Given the description of an element on the screen output the (x, y) to click on. 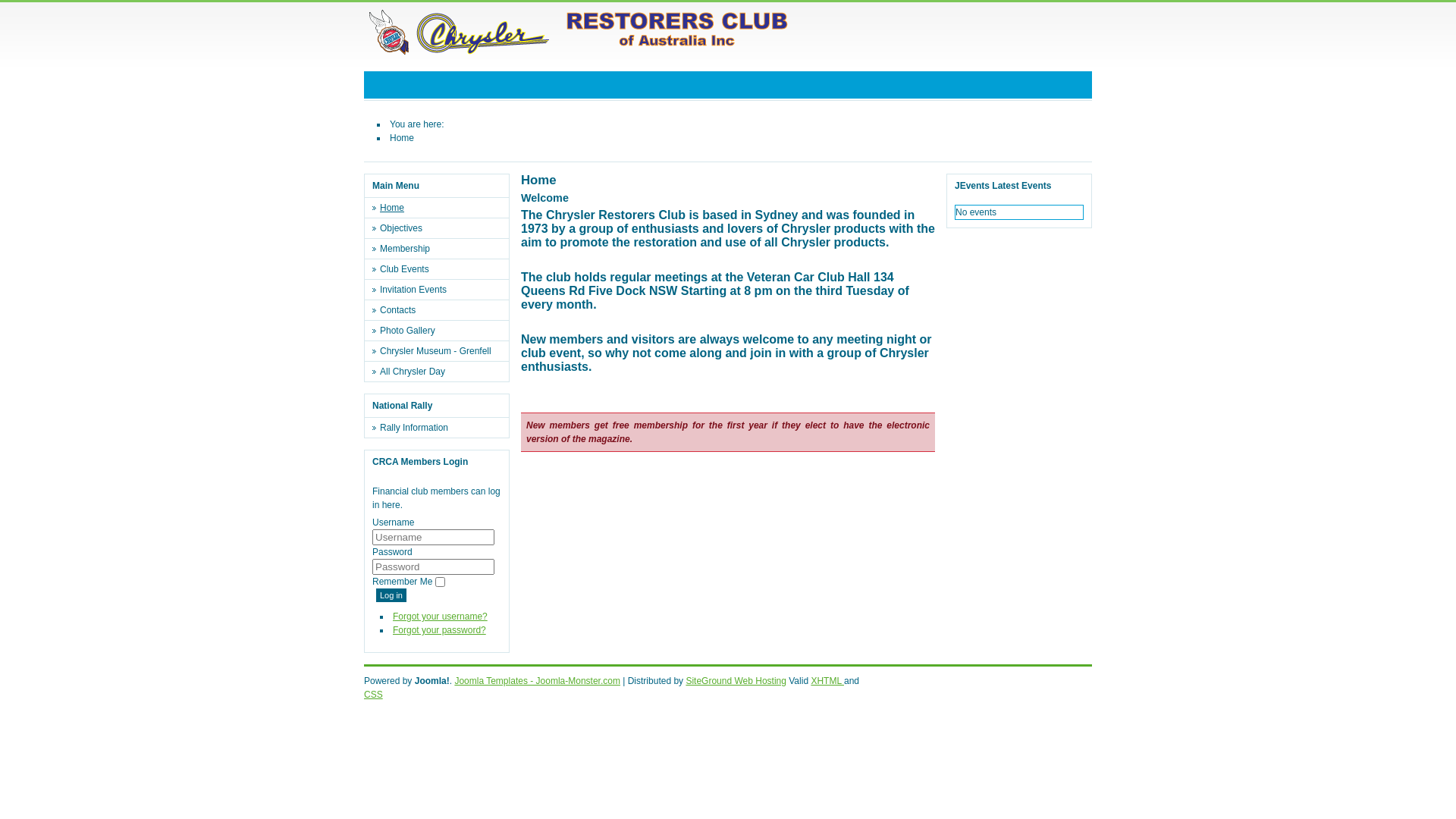
Rally Information Element type: text (440, 427)
Forgot your password? Element type: text (439, 629)
XHTML Element type: text (827, 680)
SiteGround Web Hosting Element type: text (735, 680)
All Chrysler Day Element type: text (440, 371)
Forgot your username? Element type: text (439, 616)
Membership Element type: text (440, 248)
Invitation Events Element type: text (440, 289)
Contacts Element type: text (440, 310)
Photo Gallery Element type: text (440, 330)
Club Events Element type: text (440, 269)
Chrysler Museum - Grenfell Element type: text (440, 350)
Log in Element type: text (391, 595)
Joomla Templates - Joomla-Monster.com Element type: text (537, 680)
CSS Element type: text (373, 694)
Home Element type: text (440, 207)
Objectives Element type: text (440, 228)
